Given the description of an element on the screen output the (x, y) to click on. 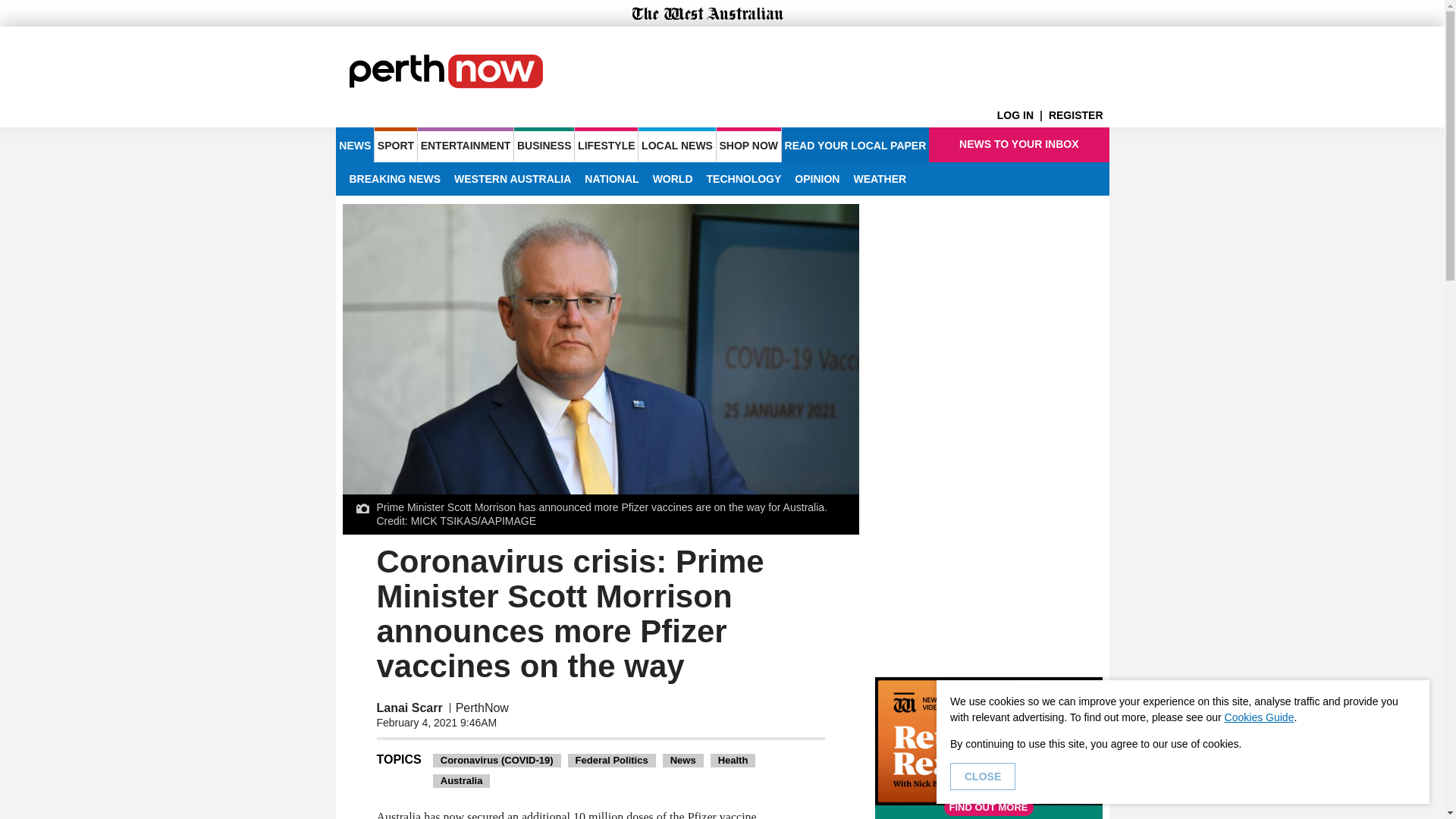
REGISTER (1078, 115)
NEWS (354, 144)
ENTERTAINMENT (465, 144)
LOG IN (1022, 115)
SPORT (395, 144)
